Given the description of an element on the screen output the (x, y) to click on. 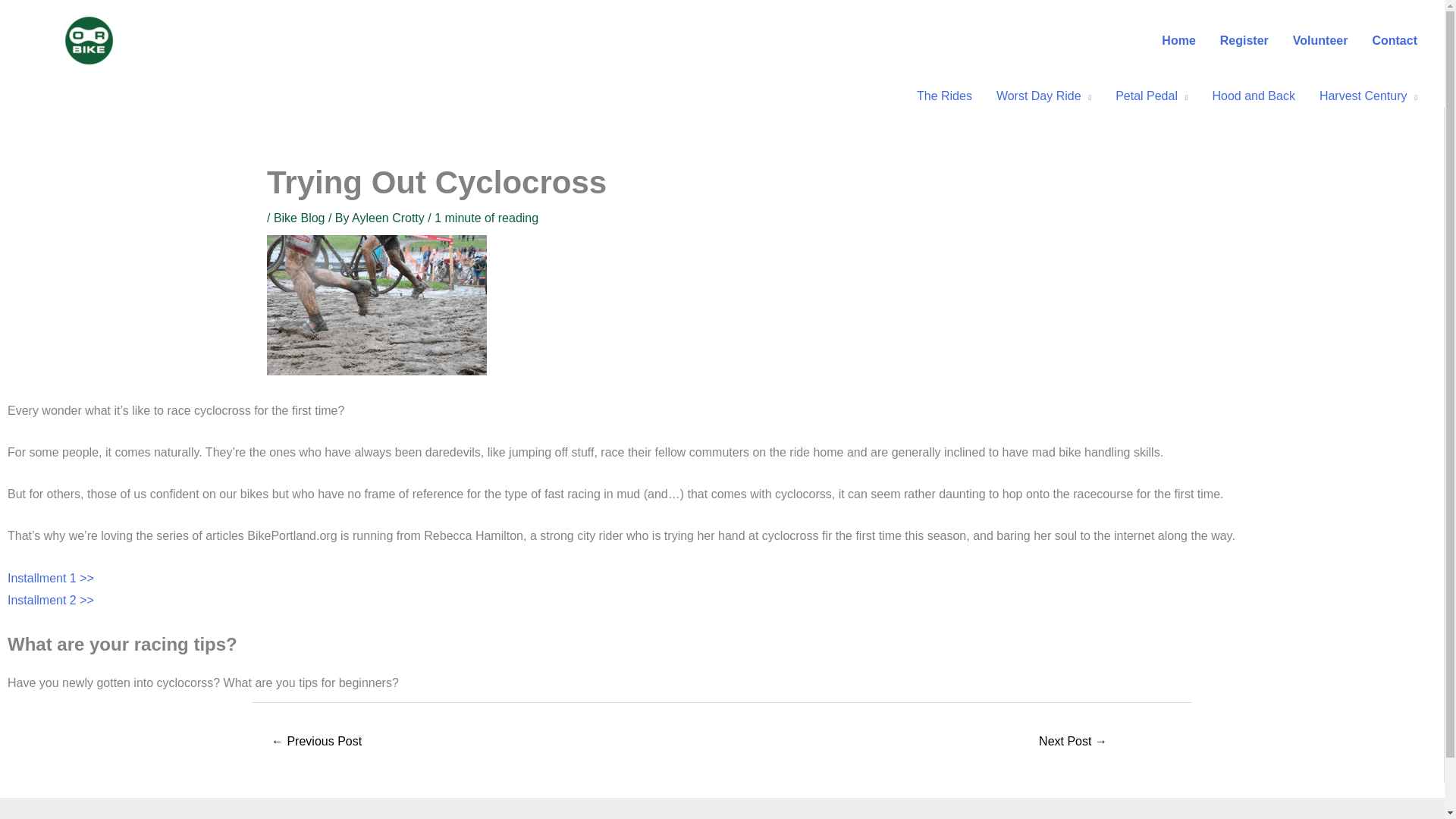
Home (1178, 40)
Worst Day Ride (1043, 96)
View all posts by Ayleen Crotty (390, 217)
Bike Blog (298, 217)
Harvest Century (1368, 96)
Volunteer (1320, 40)
Cool Routes: Adventure Climb (1073, 742)
Register (1244, 40)
Hood and Back (1252, 96)
The Rides (944, 96)
Petal Pedal (1151, 96)
Contact (1394, 40)
Ayleen Crotty (390, 217)
Handmade Bike and Beer Fest (316, 742)
